Given the description of an element on the screen output the (x, y) to click on. 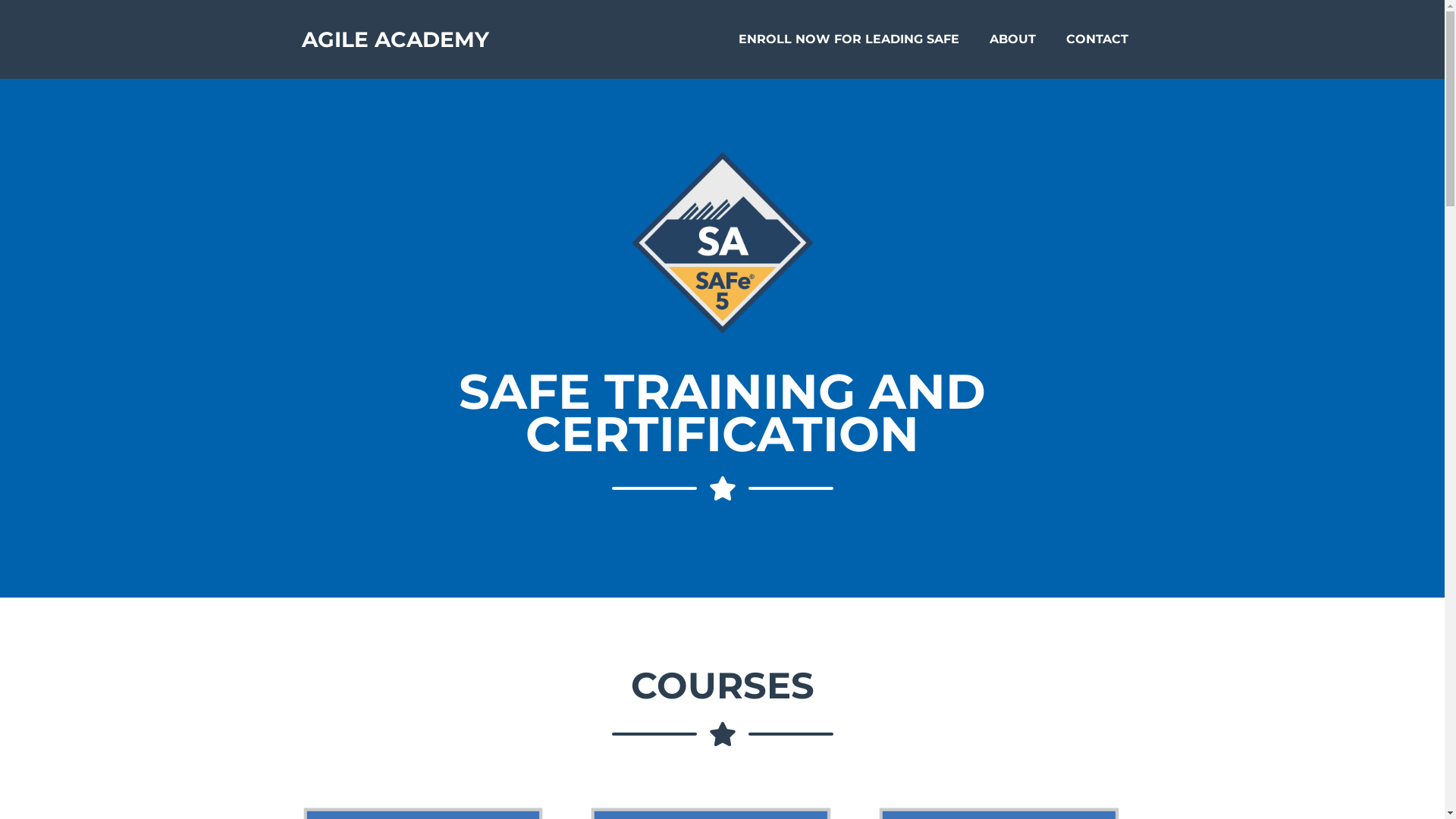
ENROLL NOW FOR LEADING SAFE Element type: text (848, 39)
CONTACT Element type: text (1097, 39)
AGILE ACADEMY Element type: text (395, 39)
ABOUT Element type: text (1011, 39)
